Given the description of an element on the screen output the (x, y) to click on. 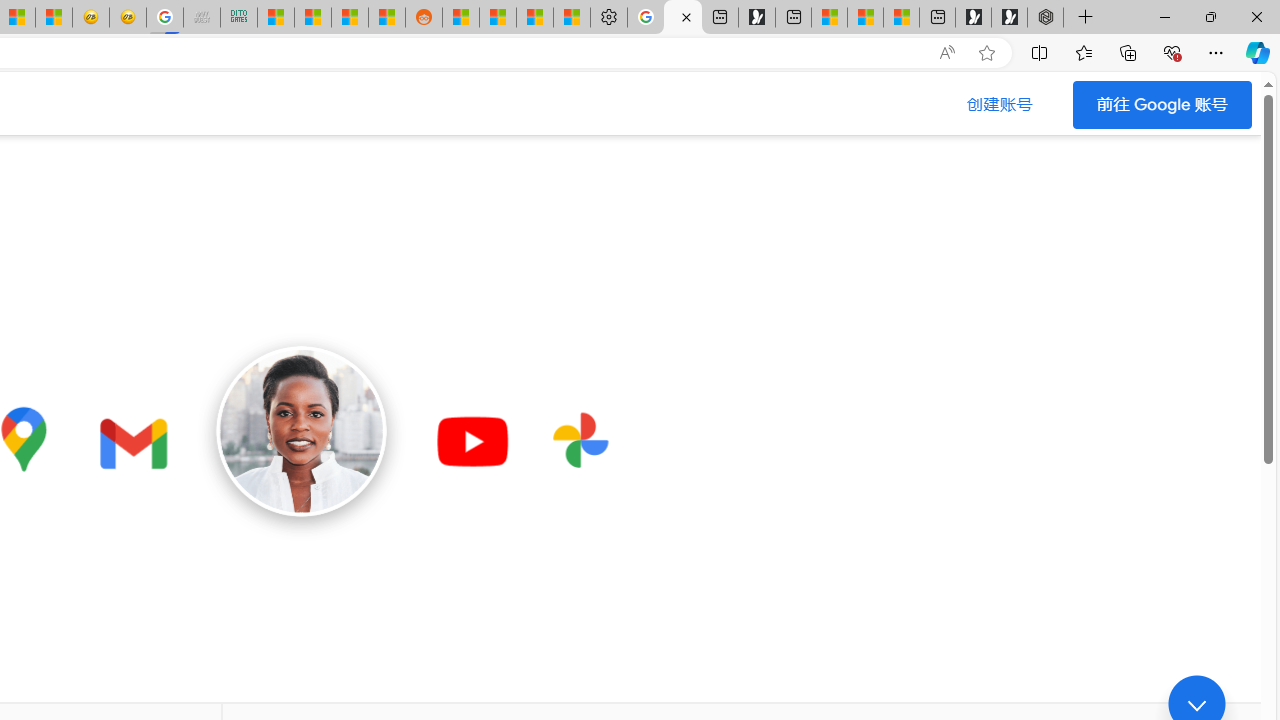
R******* | Trusted Community Engagement and Contributions (460, 17)
